Given the description of an element on the screen output the (x, y) to click on. 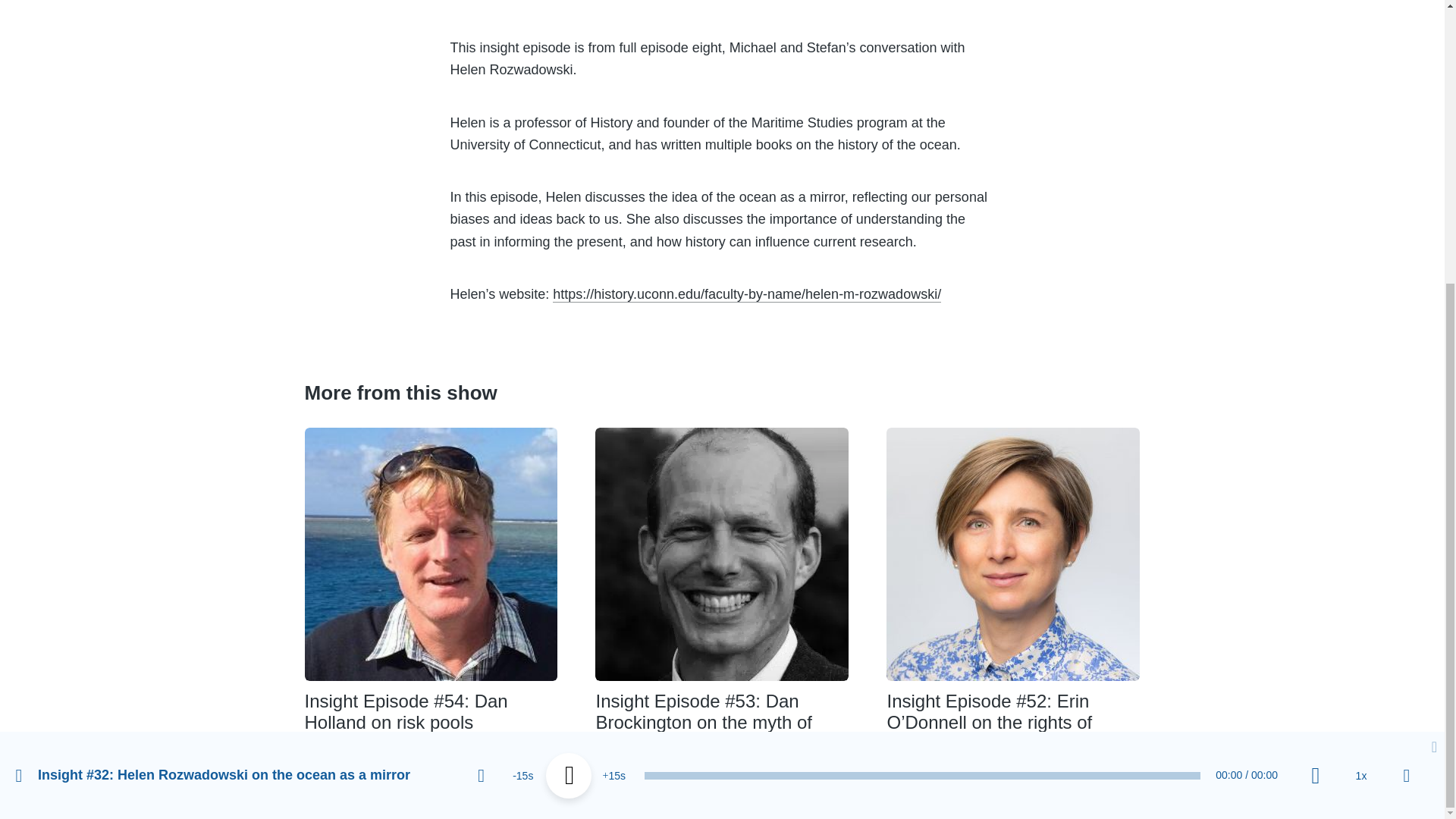
Speed Rate (1361, 349)
Skip back 15 seconds (523, 349)
Play (568, 349)
Jump forward 15 seconds (614, 349)
share (1406, 349)
Mute (1315, 349)
